Given the description of an element on the screen output the (x, y) to click on. 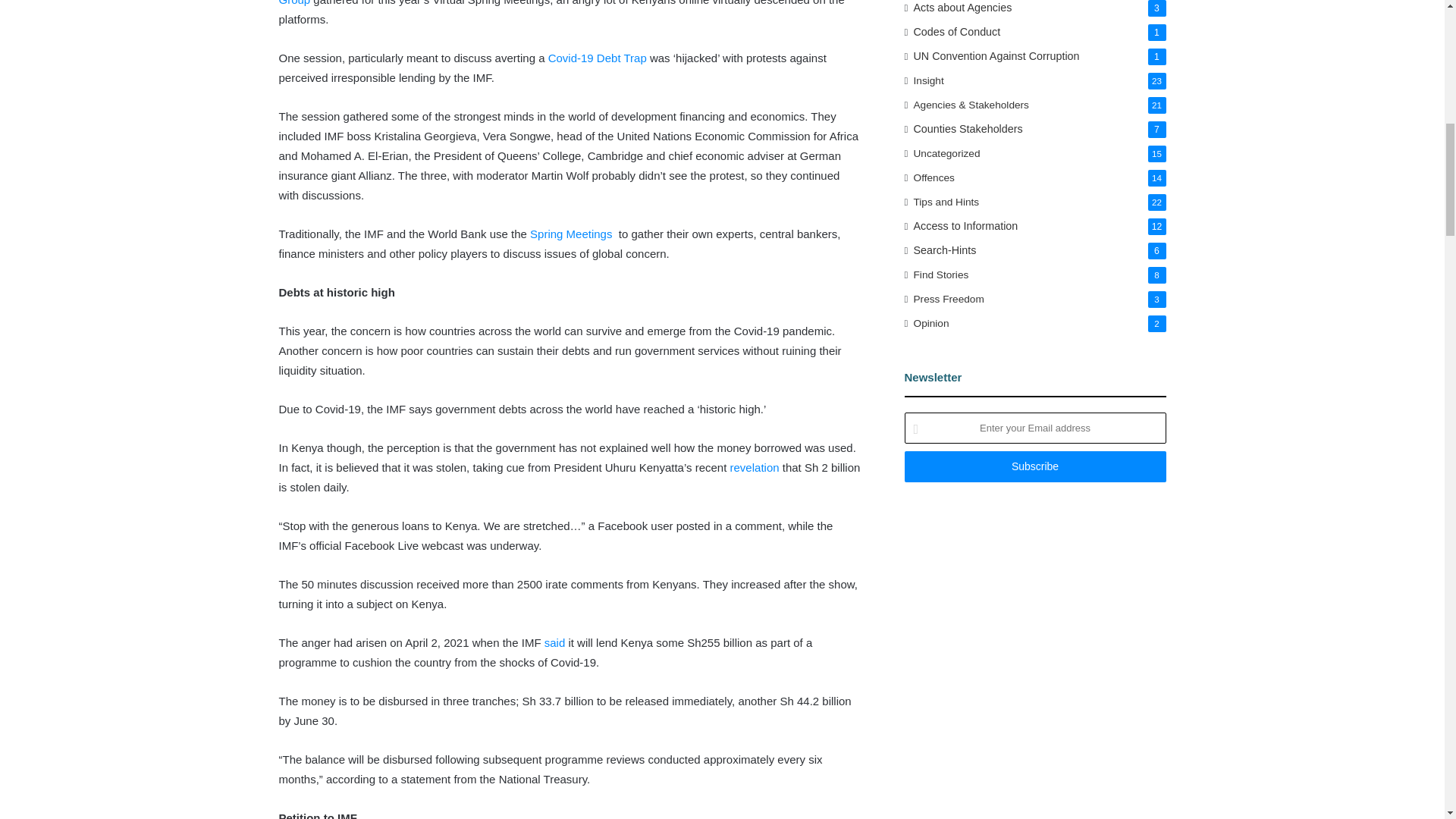
Subscribe (1035, 466)
